Given the description of an element on the screen output the (x, y) to click on. 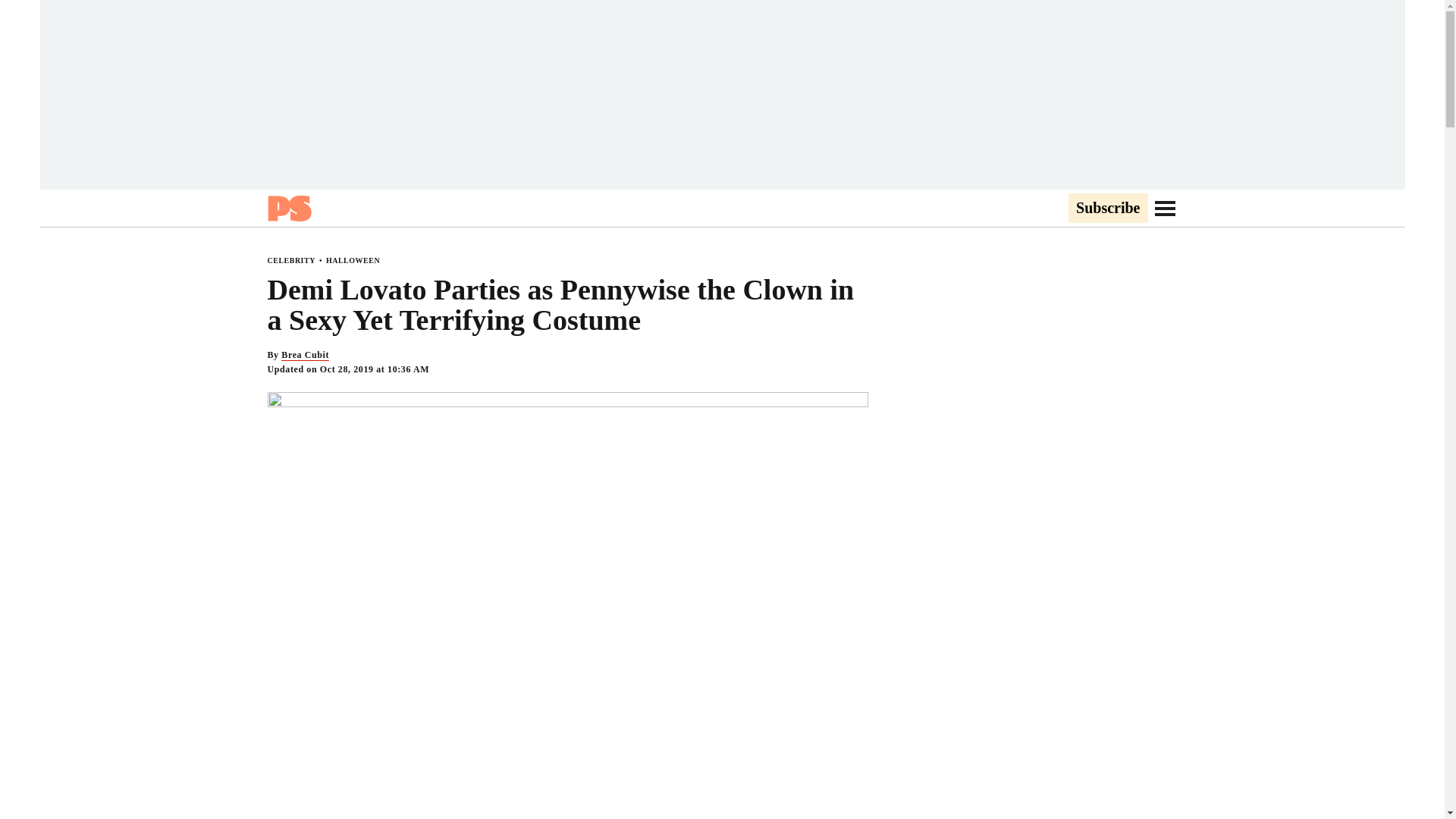
CELEBRITY (290, 260)
HALLOWEEN (353, 260)
Brea Cubit (305, 355)
Go to Navigation (1164, 207)
Popsugar (288, 208)
Go to Navigation (1164, 207)
Subscribe (1107, 208)
